Given the description of an element on the screen output the (x, y) to click on. 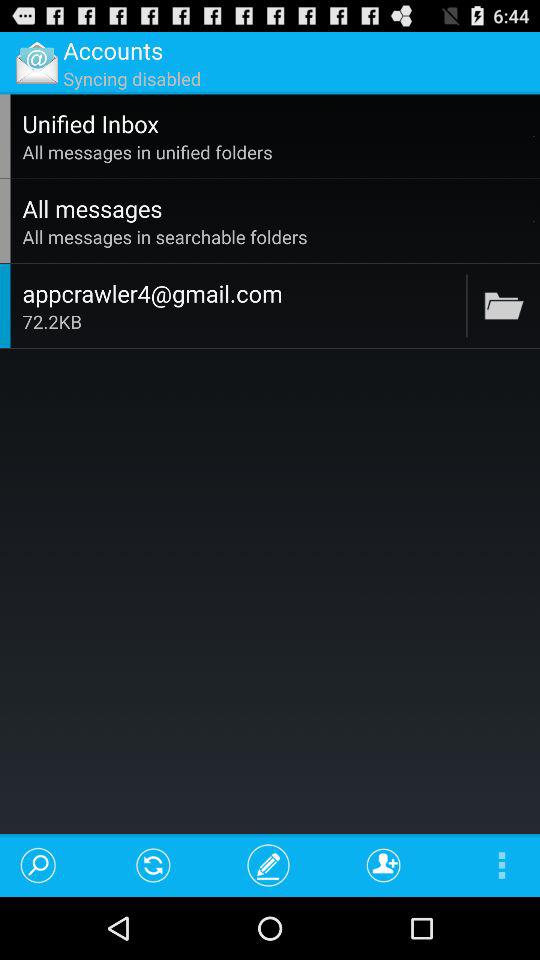
flip until the appcrawler4@gmail.com icon (241, 293)
